Given the description of an element on the screen output the (x, y) to click on. 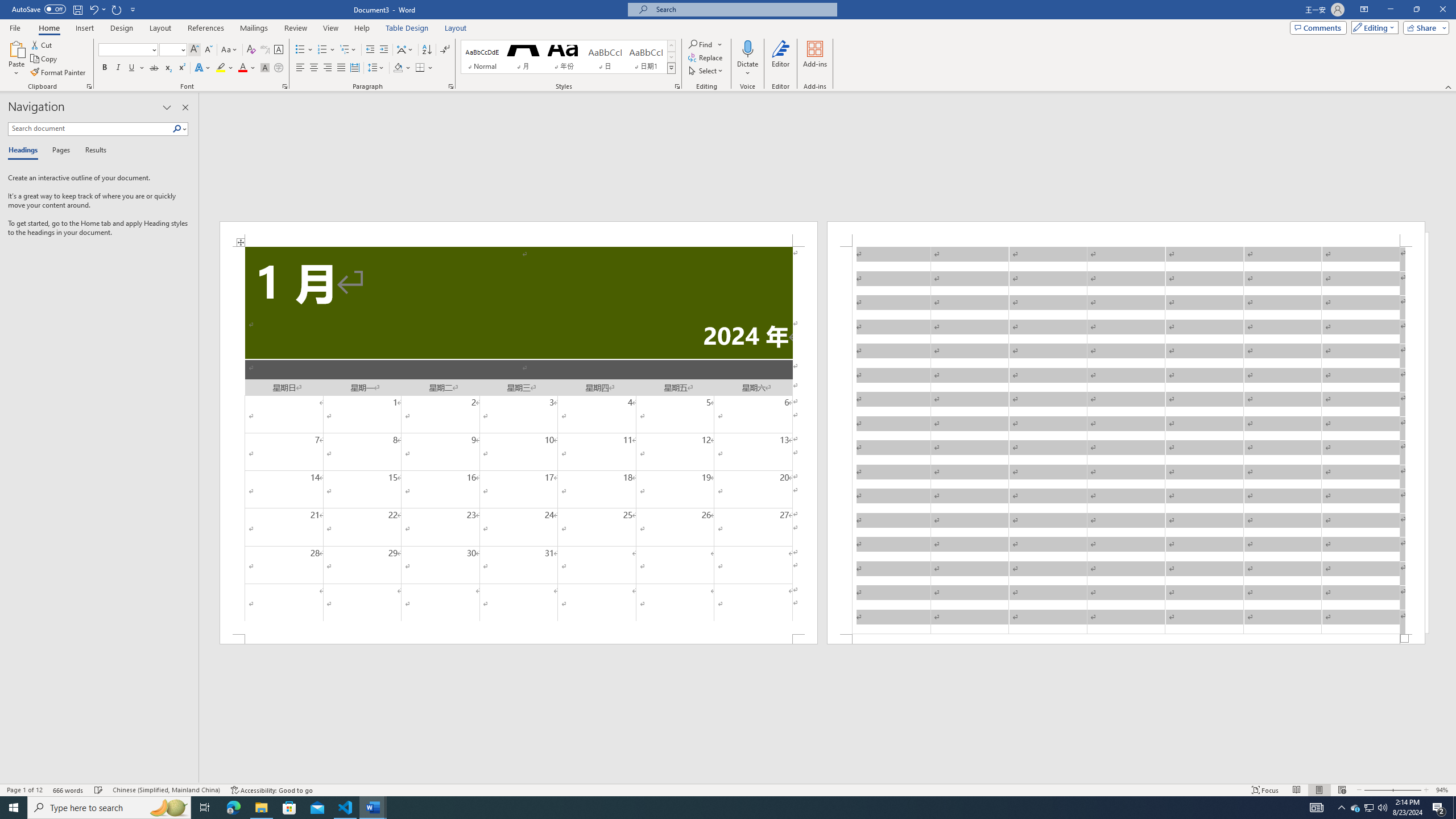
Footer -Section 1- (1126, 638)
Page 1 content (518, 439)
